Given the description of an element on the screen output the (x, y) to click on. 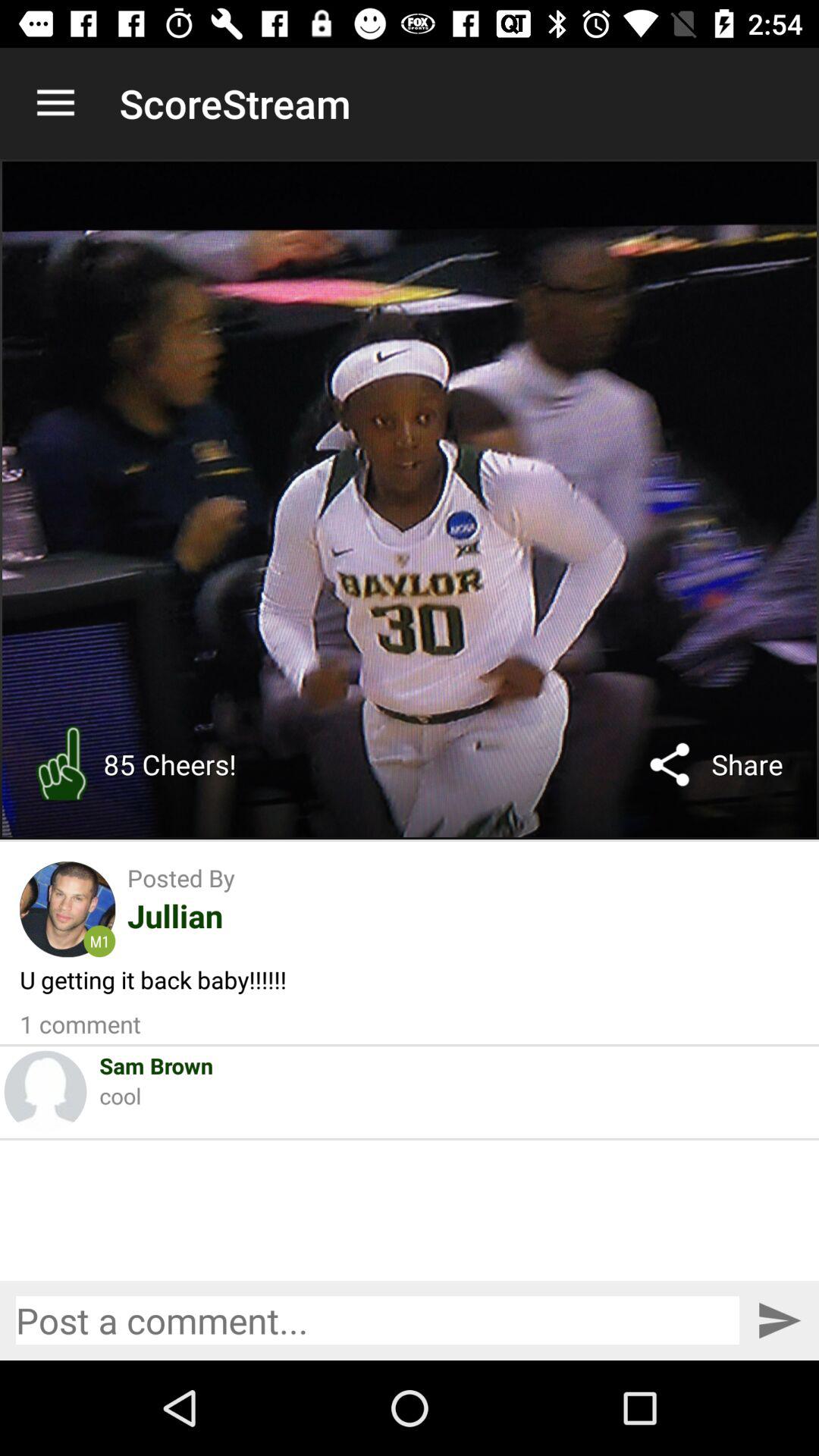
leave a comment (377, 1320)
